Given the description of an element on the screen output the (x, y) to click on. 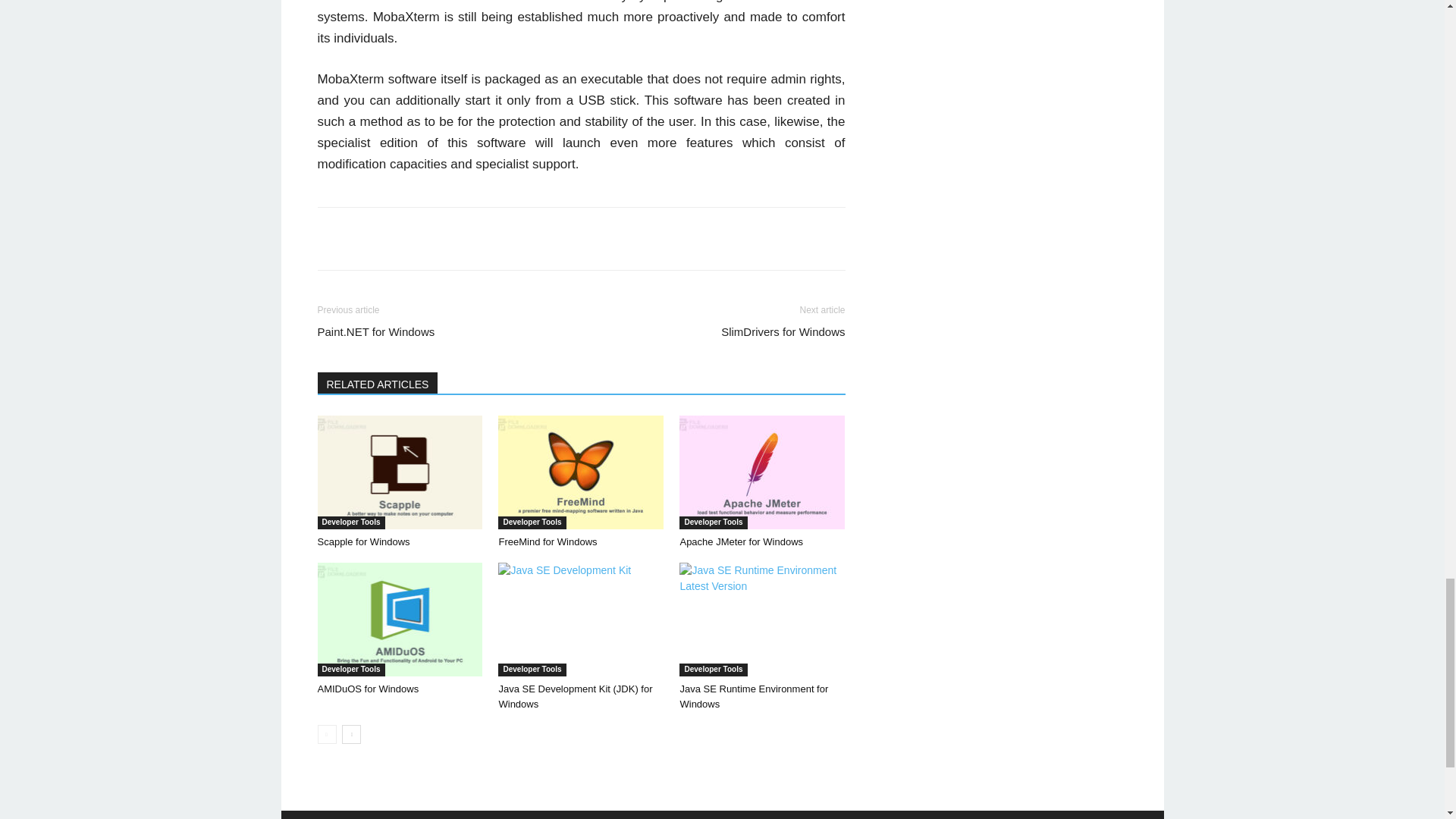
Developer Tools (350, 522)
Paint.NET for Windows (375, 331)
FreeMind for Windows (546, 541)
Scapple for Windows (363, 541)
RELATED ARTICLES (377, 382)
SlimDrivers for Windows (782, 331)
Scapple for Windows (363, 541)
Scapple for Windows (399, 472)
FreeMind for Windows (580, 472)
